Given the description of an element on the screen output the (x, y) to click on. 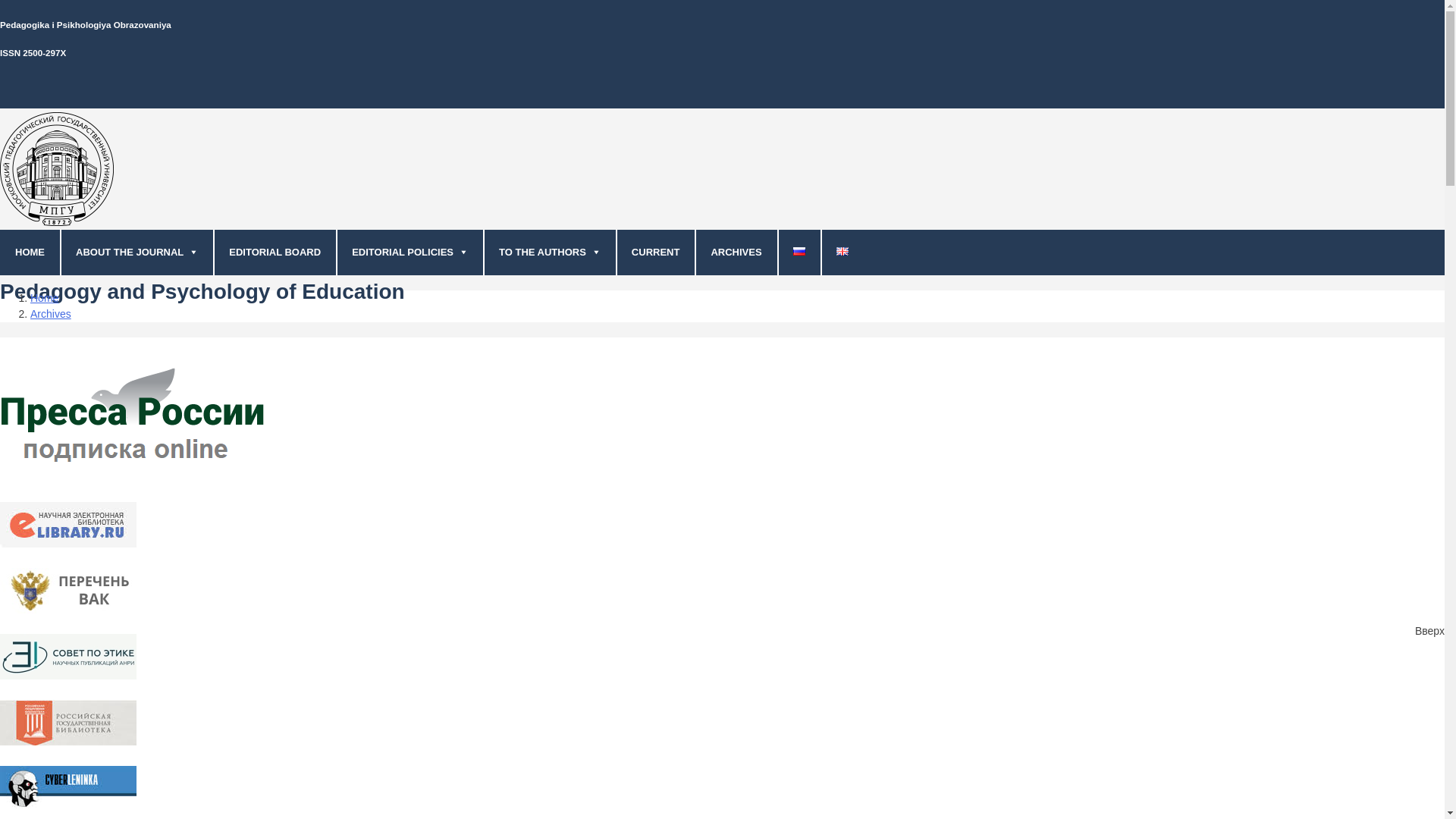
EDITORIAL POLICIES (409, 252)
CURRENT (655, 252)
EDITORIAL BOARD (275, 252)
TO THE AUTHORS (549, 252)
Archives (50, 313)
Home (44, 297)
HOME (29, 252)
Archives (50, 313)
ABOUT THE JOURNAL (136, 252)
ARCHIVES (735, 252)
English (841, 251)
